Given the description of an element on the screen output the (x, y) to click on. 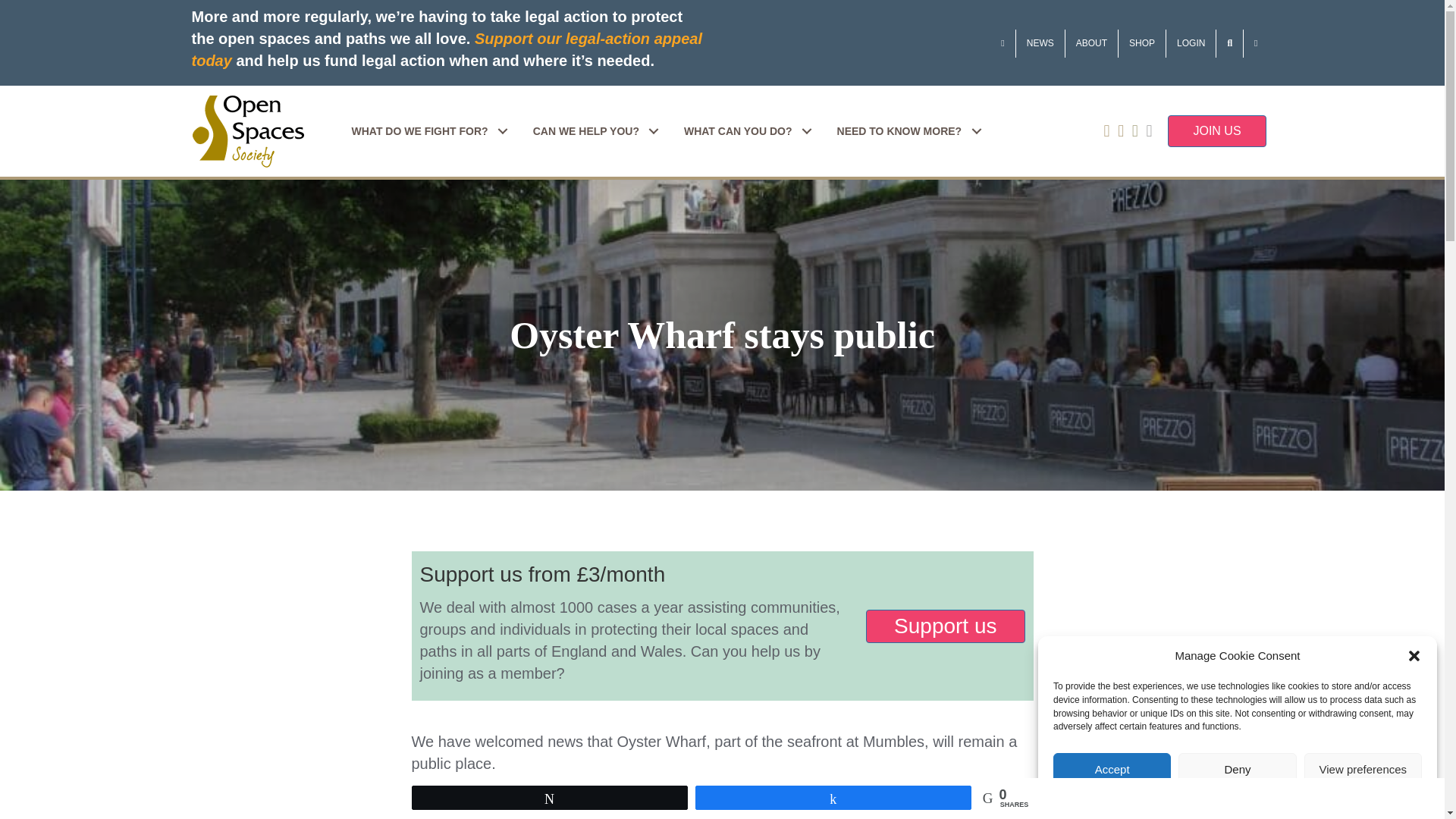
SHOP (1142, 43)
Home (1002, 43)
ABOUT (1091, 43)
Search (1229, 43)
Contact Us (1255, 43)
LOGIN (1190, 43)
Support our legal-action appeal today (445, 49)
Open Spaces Society Logo (247, 131)
NEWS (1040, 43)
